Given the description of an element on the screen output the (x, y) to click on. 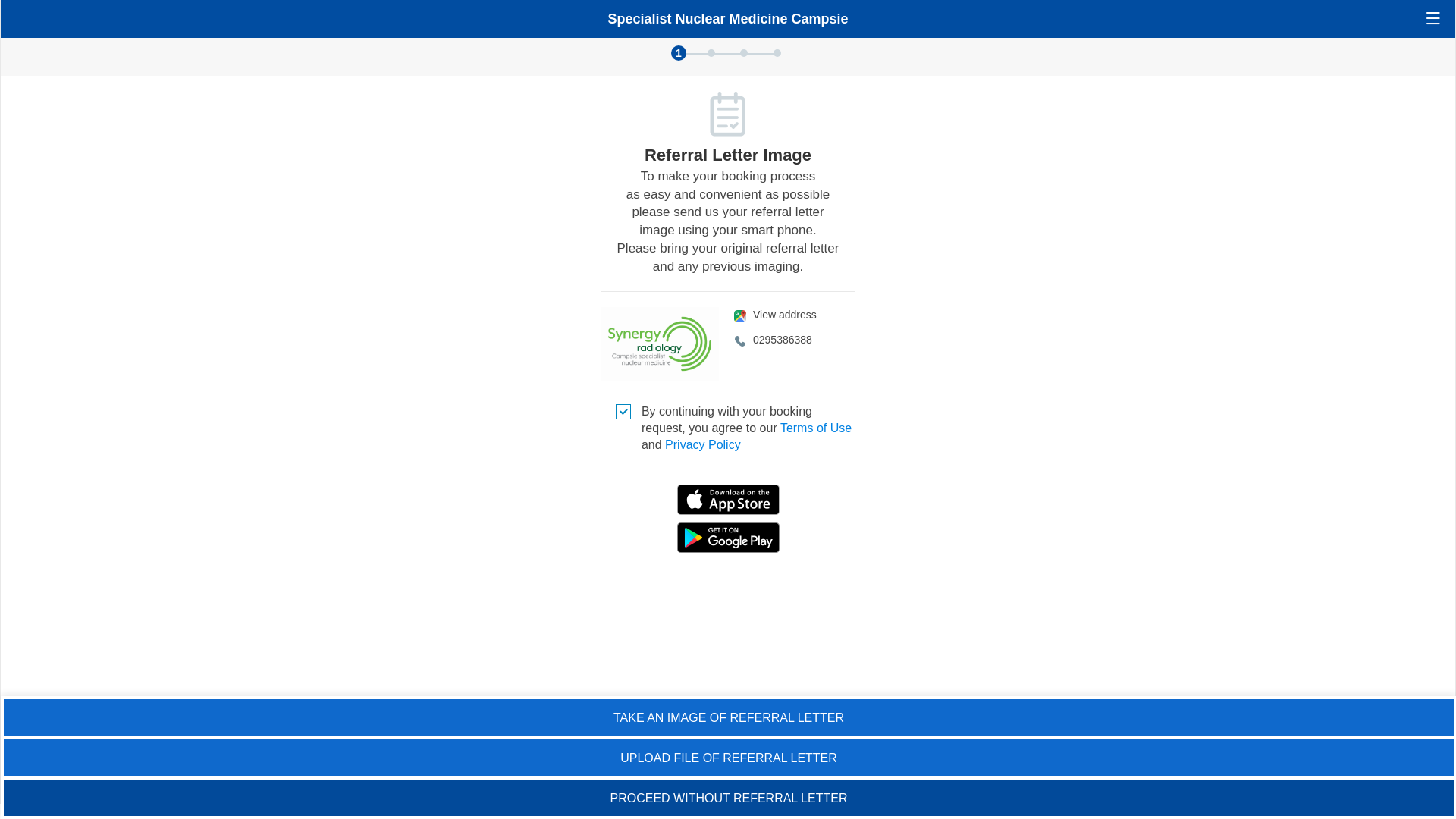
0295386388 Element type: text (794, 339)
Privacy Policy Element type: text (702, 444)
View address Element type: text (794, 314)
TAKE AN IMAGE OF REFERRAL LETTER Element type: text (728, 717)
PROCEED WITHOUT REFERRAL LETTER Element type: text (728, 797)
Terms of Use Element type: text (815, 427)
open Element type: text (1433, 18)
UPLOAD FILE OF REFERRAL LETTER Element type: text (728, 757)
